Given the description of an element on the screen output the (x, y) to click on. 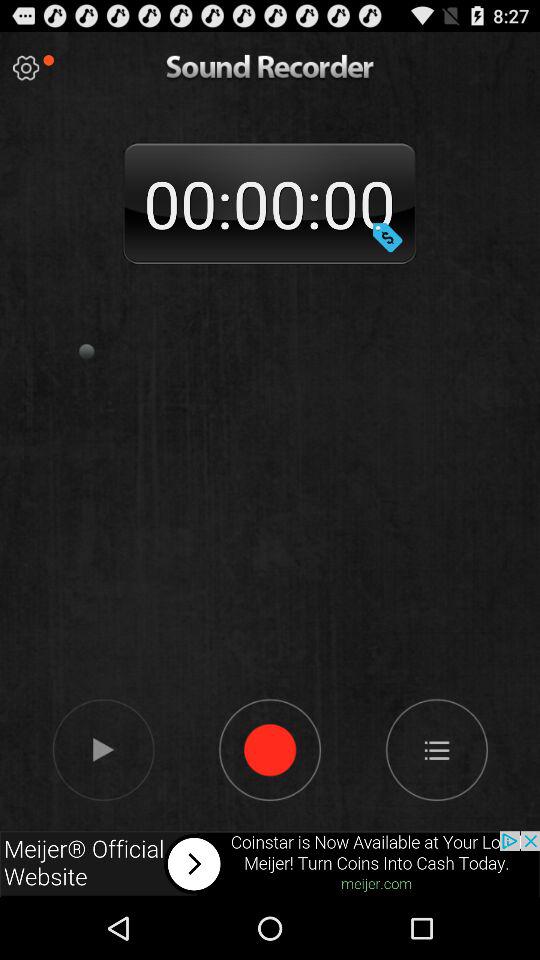
play the recording (102, 749)
